Given the description of an element on the screen output the (x, y) to click on. 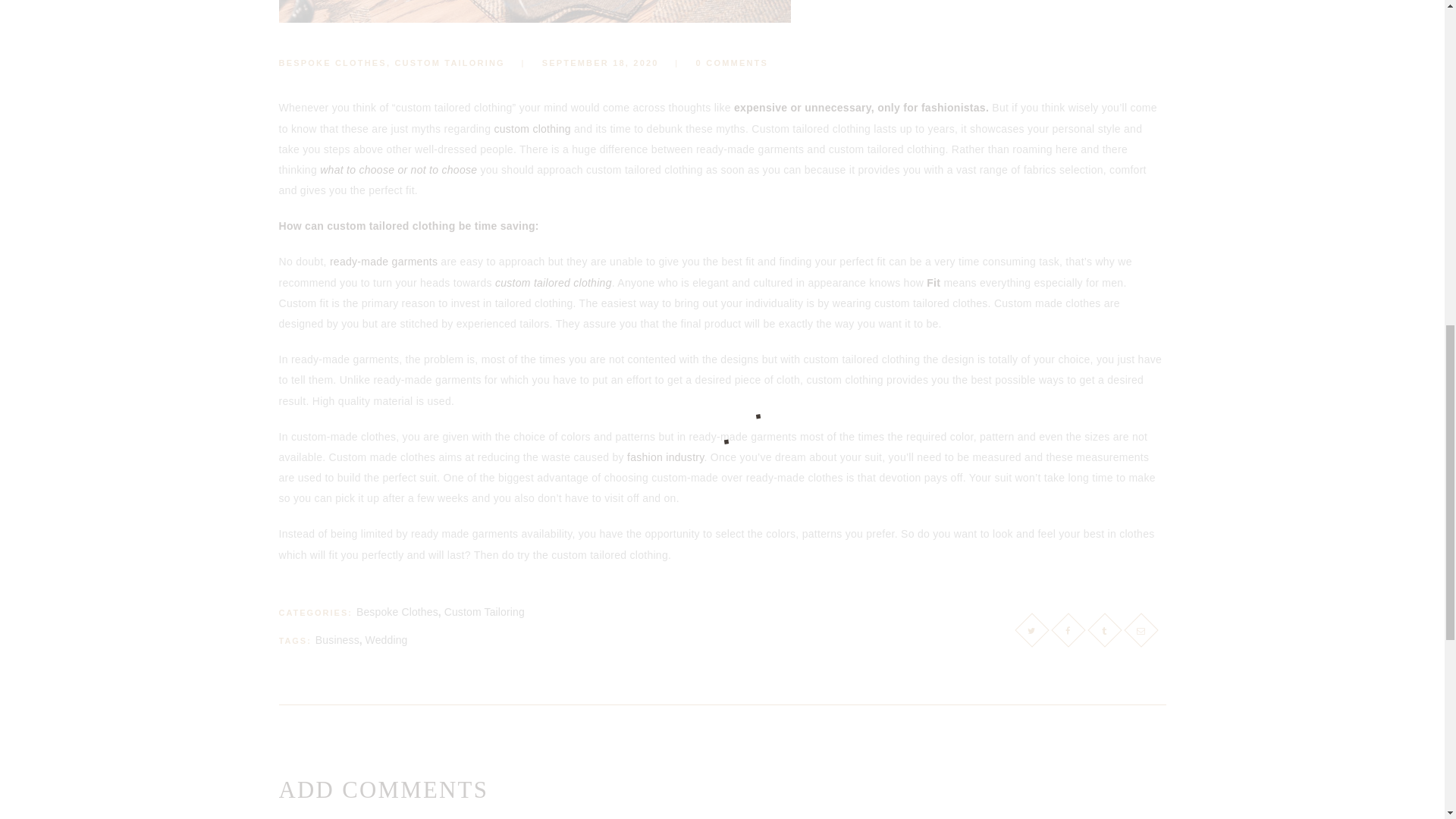
Bespoke Clothes (397, 612)
SEPTEMBER 18, 2020 (600, 62)
0COMMENTS (715, 62)
custom clothing (531, 128)
CUSTOM TAILORING (448, 62)
Custom Tailoring (484, 612)
BESPOKE CLOTHES (333, 62)
fashion industry (665, 457)
ready-made garments (384, 261)
